Given the description of an element on the screen output the (x, y) to click on. 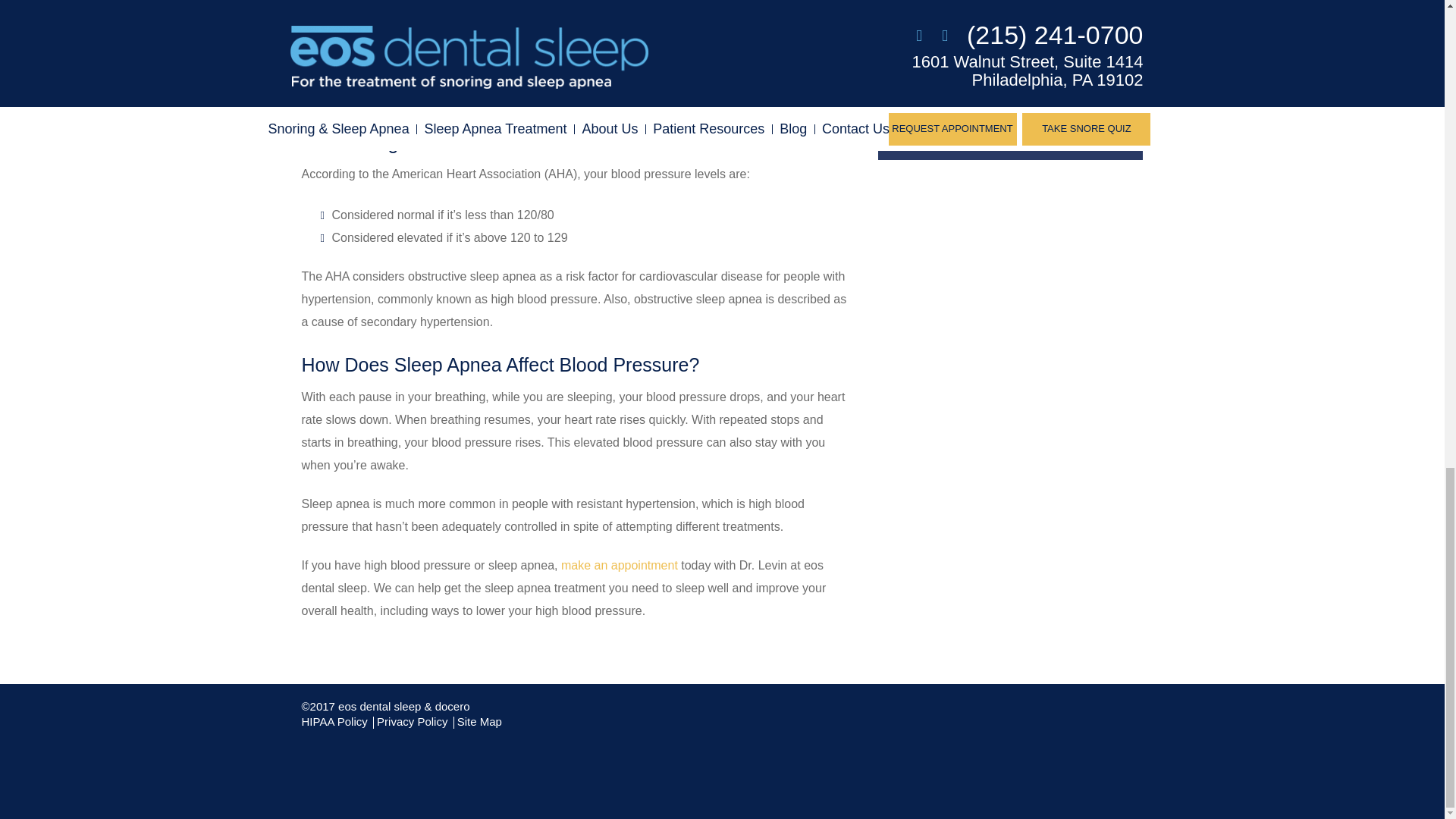
Privacy Policy (411, 721)
make an appointment (619, 564)
Site Map (479, 721)
HIPAA Policy (334, 721)
READ MORE (1010, 128)
